Given the description of an element on the screen output the (x, y) to click on. 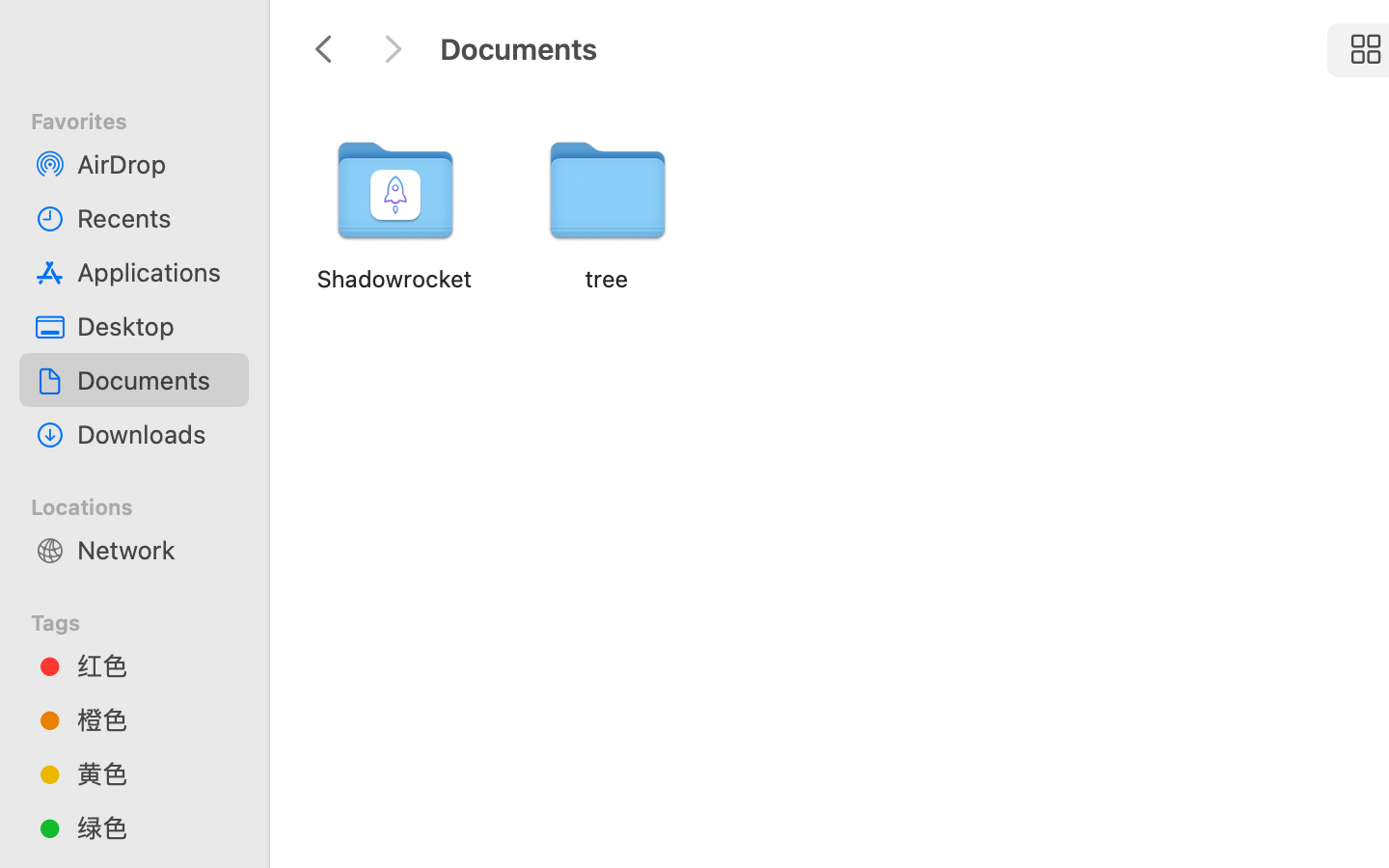
Tags Element type: AXStaticText (145, 619)
Applications Element type: AXStaticText (155, 271)
Favorites Element type: AXStaticText (145, 118)
Documents Element type: AXStaticText (155, 379)
